Given the description of an element on the screen output the (x, y) to click on. 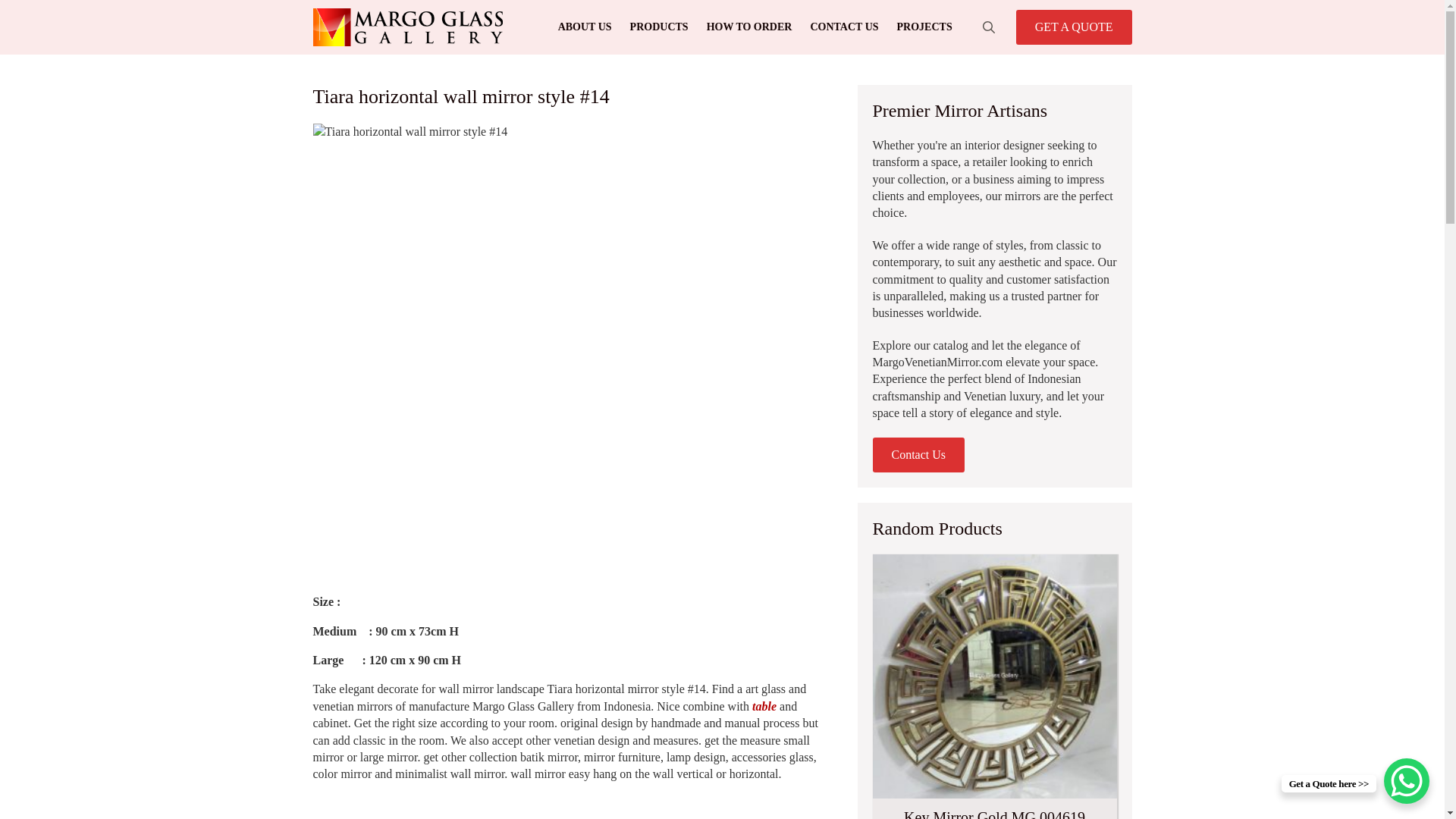
Contact Us (917, 454)
ABOUT US (584, 27)
CONTACT US (843, 27)
HOW TO ORDER (749, 27)
GET A QUOTE (1074, 27)
PROJECTS (924, 27)
PRODUCTS (659, 27)
Furniture Design Venetian Mirror (764, 706)
table (764, 706)
Key Mirror Gold MG 004619 (994, 686)
